Given the description of an element on the screen output the (x, y) to click on. 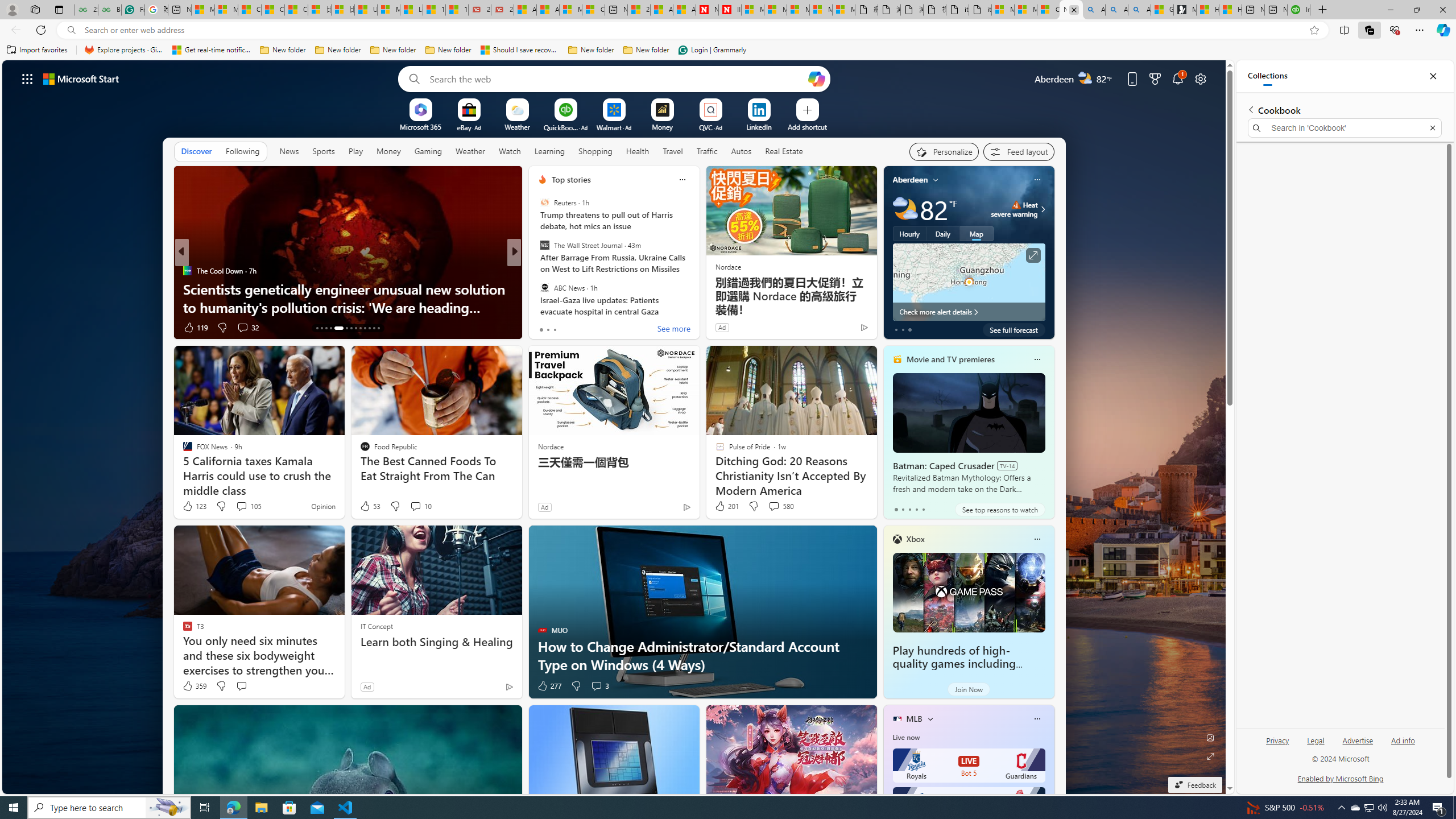
24 Like (543, 327)
Back to list of collections (1250, 109)
View comments 105 Comment (241, 505)
Should I save recovered Word documents? - Microsoft Support (519, 49)
INSIDER (537, 270)
AutomationID: tab-17 (339, 328)
View comments 32 Comment (247, 327)
